Given the description of an element on the screen output the (x, y) to click on. 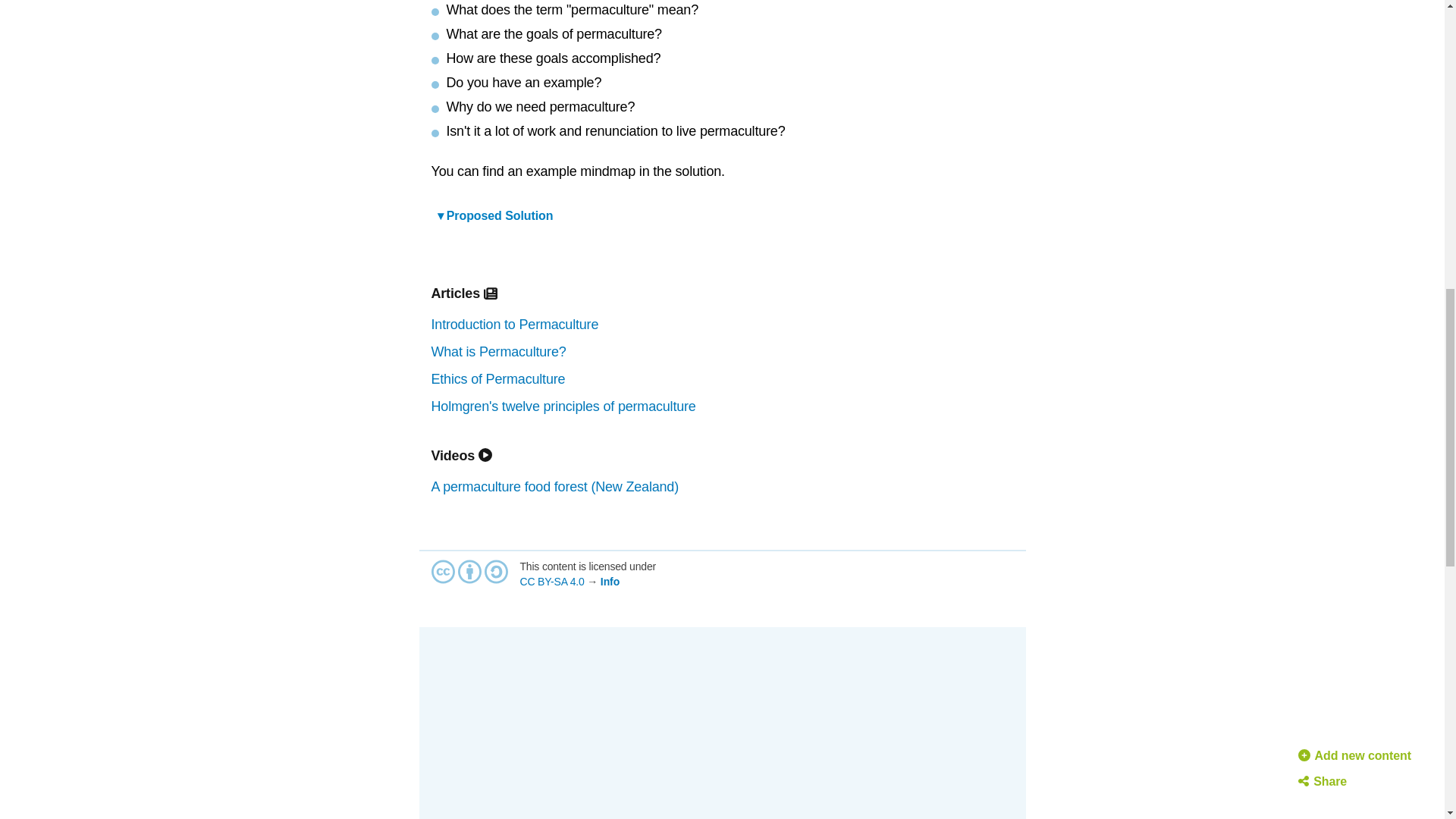
Introduction to Permaculture (721, 325)
What is Permaculture? (721, 352)
Info (609, 581)
Ethics of Permaculture (721, 379)
Holmgren's twelve principles of permaculture (721, 406)
CC BY-SA 4.0 (552, 581)
